Given the description of an element on the screen output the (x, y) to click on. 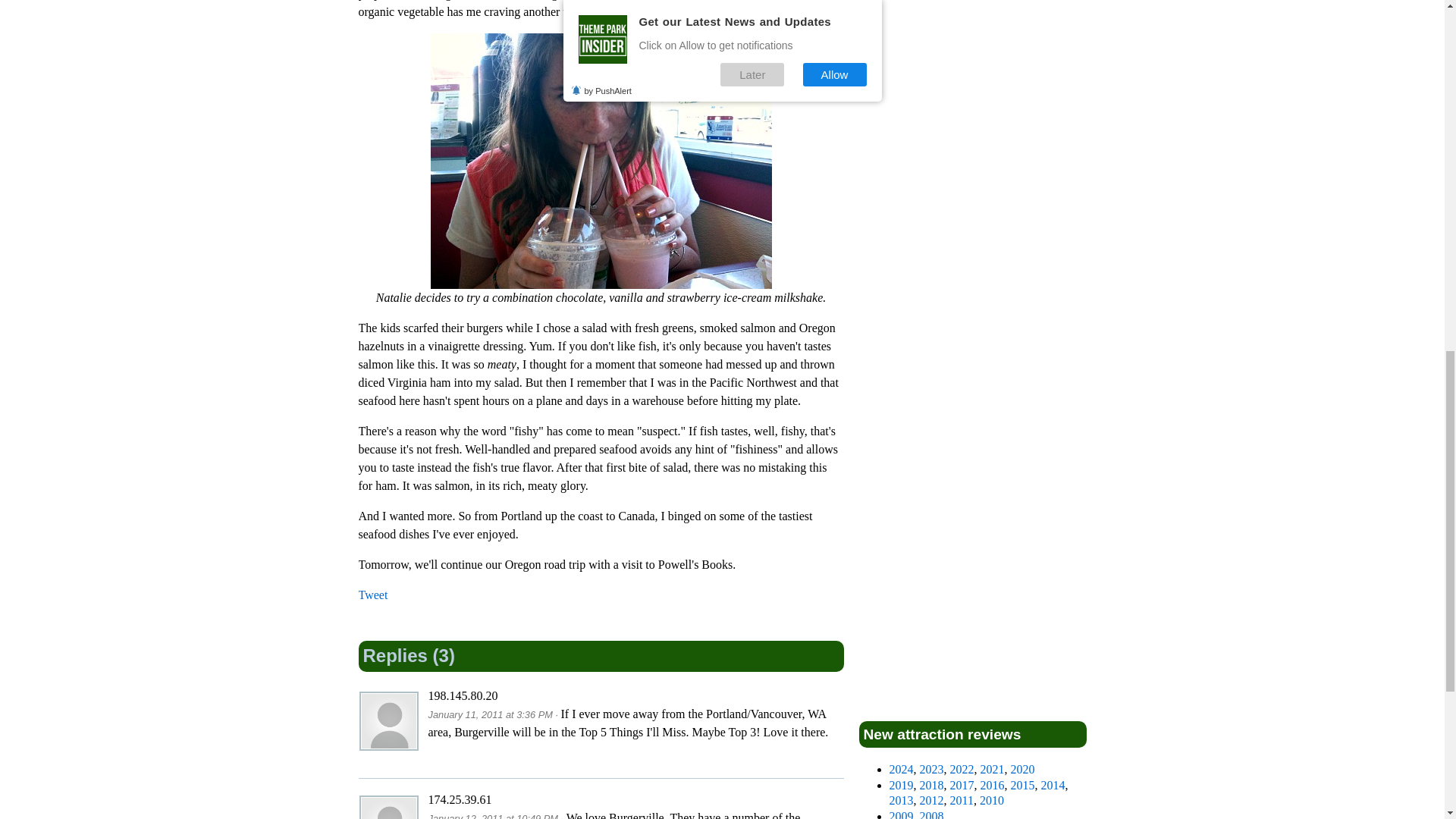
Tweet (372, 594)
2024 (900, 768)
2023 (930, 768)
